Given the description of an element on the screen output the (x, y) to click on. 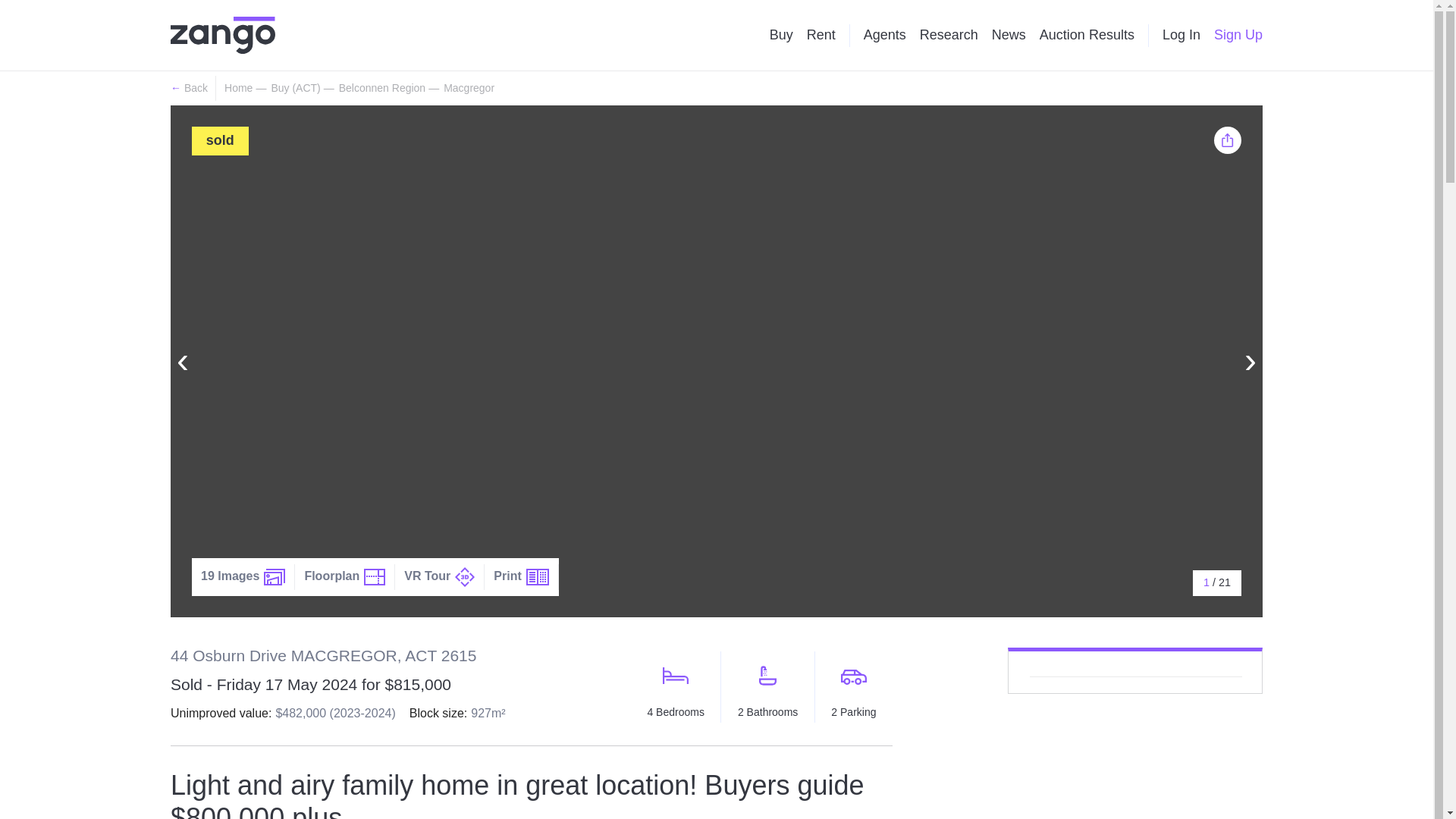
Macgregor (469, 87)
Buy (781, 35)
Property brochure icon (536, 576)
Bed Icon (675, 675)
Sign Up (1238, 35)
FloorplanProperty Floorplan Icon (344, 576)
Car Icon (853, 677)
Property images icon (274, 576)
Auction Results (1086, 35)
Rent (820, 35)
